Given the description of an element on the screen output the (x, y) to click on. 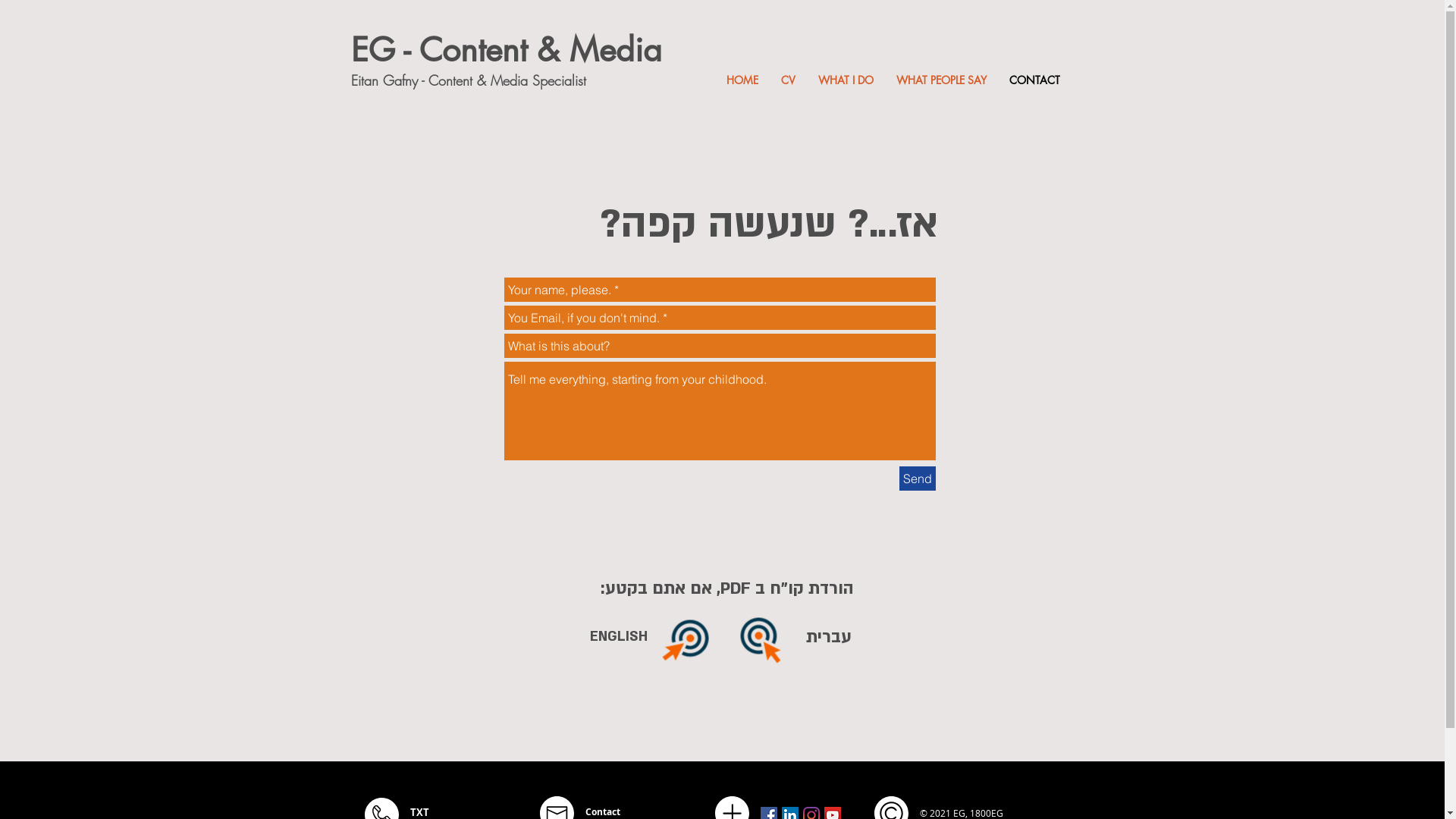
Media Element type: text (614, 49)
Specialist Element type: text (559, 80)
HOME Element type: text (741, 80)
WHAT I DO Element type: text (845, 80)
Media Element type: text (510, 80)
Eitan Gafny - Content &  Element type: text (419, 80)
CV Element type: text (787, 80)
CONTACT Element type: text (1034, 80)
EG - Content &  Element type: text (459, 49)
Send Element type: text (917, 478)
WHAT PEOPLE SAY Element type: text (940, 80)
